Given the description of an element on the screen output the (x, y) to click on. 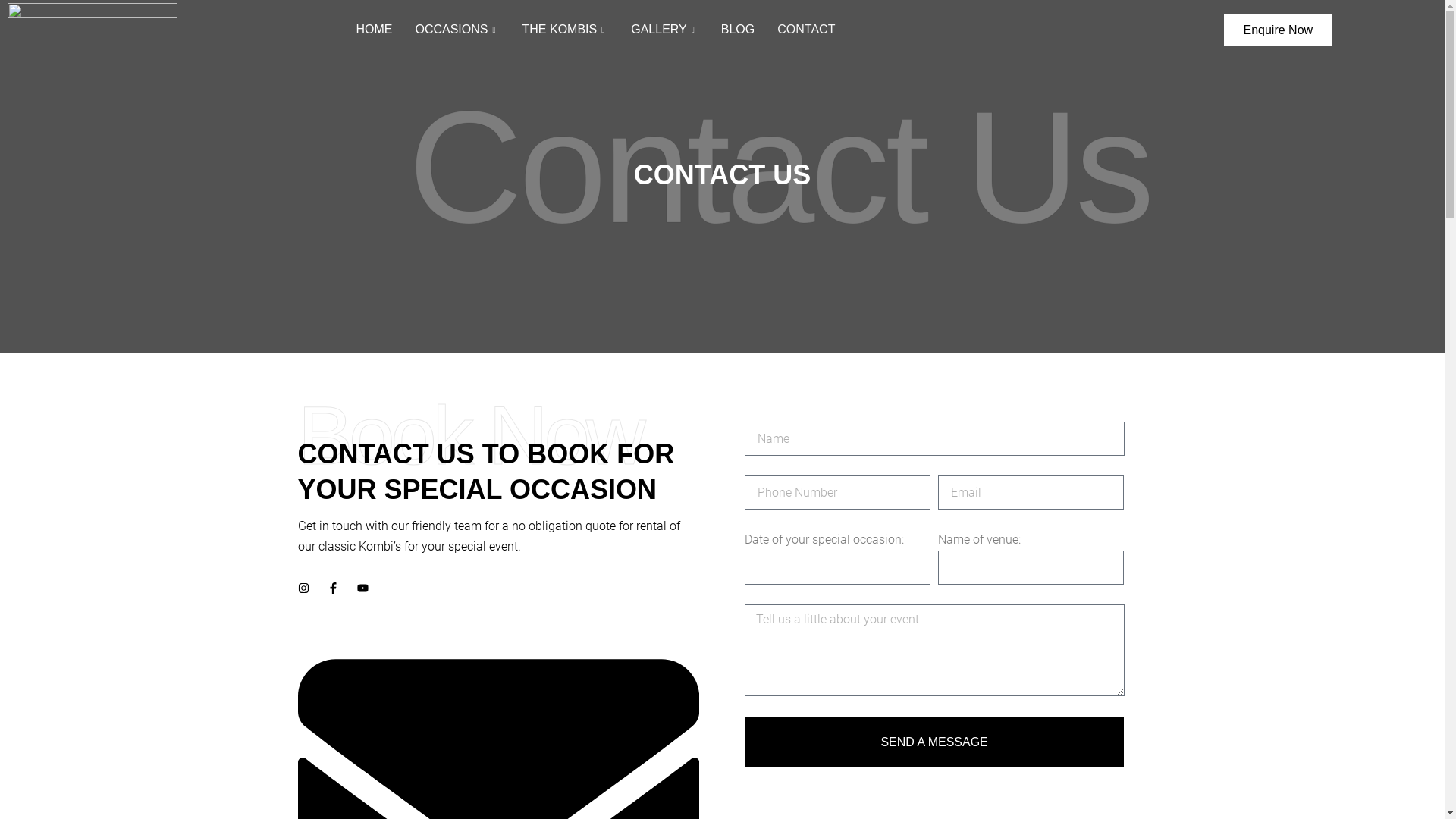
Enquire Now Element type: text (1277, 29)
SEND A MESSAGE Element type: text (934, 741)
